Given the description of an element on the screen output the (x, y) to click on. 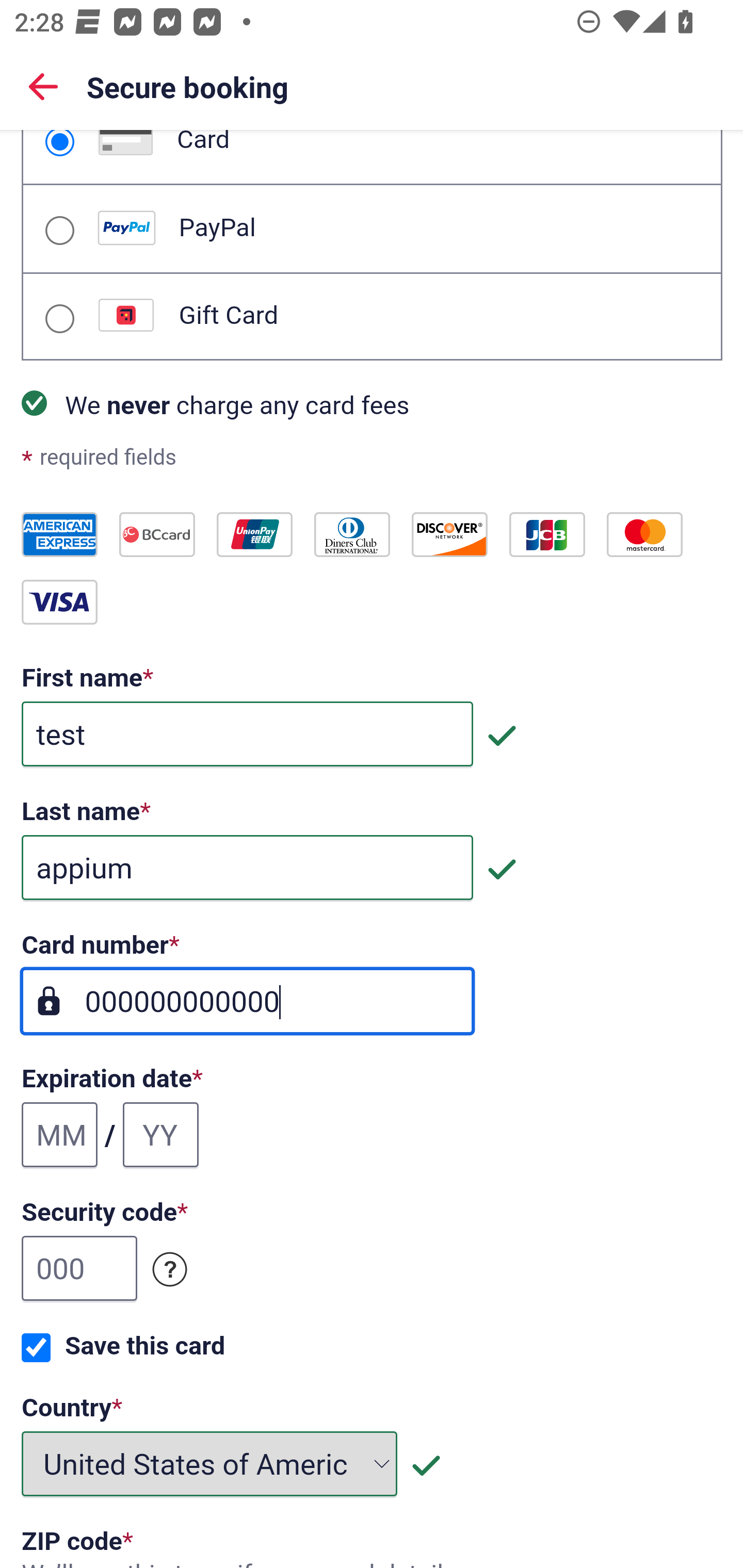
Back (43, 86)
Card (59, 143)
PayPal (59, 230)
Gift Card (59, 318)
test (247, 734)
appium (247, 868)
000000000000 (247, 1001)
Security code (170, 1269)
Save this card (36, 1348)
United States of America (209, 1464)
